Given the description of an element on the screen output the (x, y) to click on. 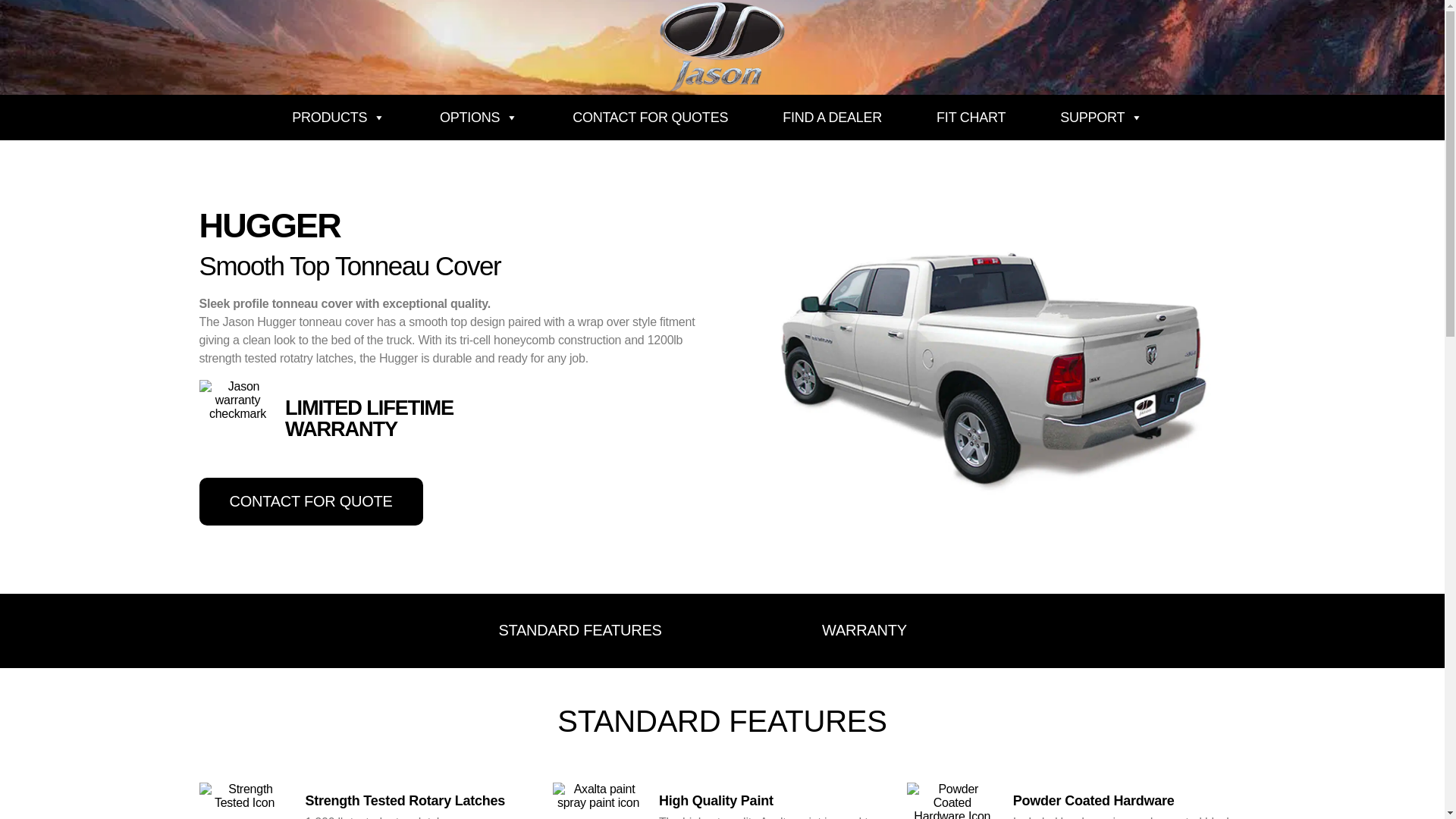
OPTIONS (478, 117)
CONTACT FOR QUOTES (649, 117)
PRODUCTS (338, 117)
